Given the description of an element on the screen output the (x, y) to click on. 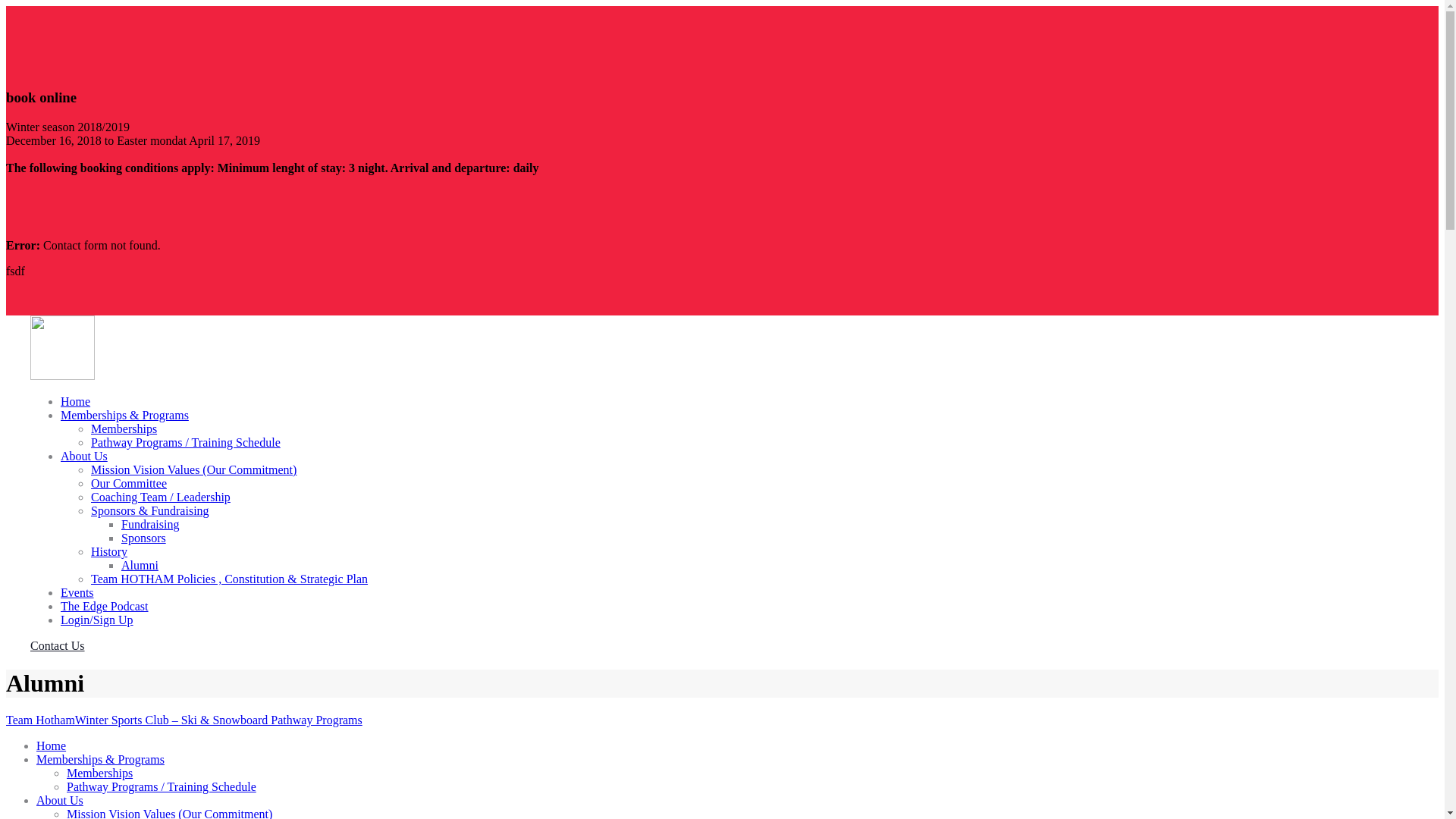
Events Element type: text (77, 592)
Alumni Element type: text (139, 564)
Team HOTHAM Policies , Constitution & Strategic Plan Element type: text (229, 578)
Mission Vision Values (Our Commitment) Element type: text (193, 469)
The Edge Podcast Element type: text (104, 605)
Pathway Programs / Training Schedule Element type: text (161, 786)
Memberships & Programs Element type: text (124, 414)
Home Element type: text (75, 401)
Coaching Team / Leadership Element type: text (160, 496)
Pathway Programs / Training Schedule Element type: text (185, 442)
Fundraising Element type: text (149, 523)
History Element type: text (109, 551)
Sponsors & Fundraising Element type: text (150, 510)
About Us Element type: text (83, 455)
Memberships & Programs Element type: text (100, 759)
Our Committee Element type: text (128, 482)
Memberships Element type: text (123, 428)
About Us Element type: text (59, 799)
Login/Sign Up Element type: text (96, 619)
Memberships Element type: text (99, 772)
Home Element type: text (50, 745)
Sponsors Element type: text (143, 537)
Contact Us Element type: text (57, 645)
